Given the description of an element on the screen output the (x, y) to click on. 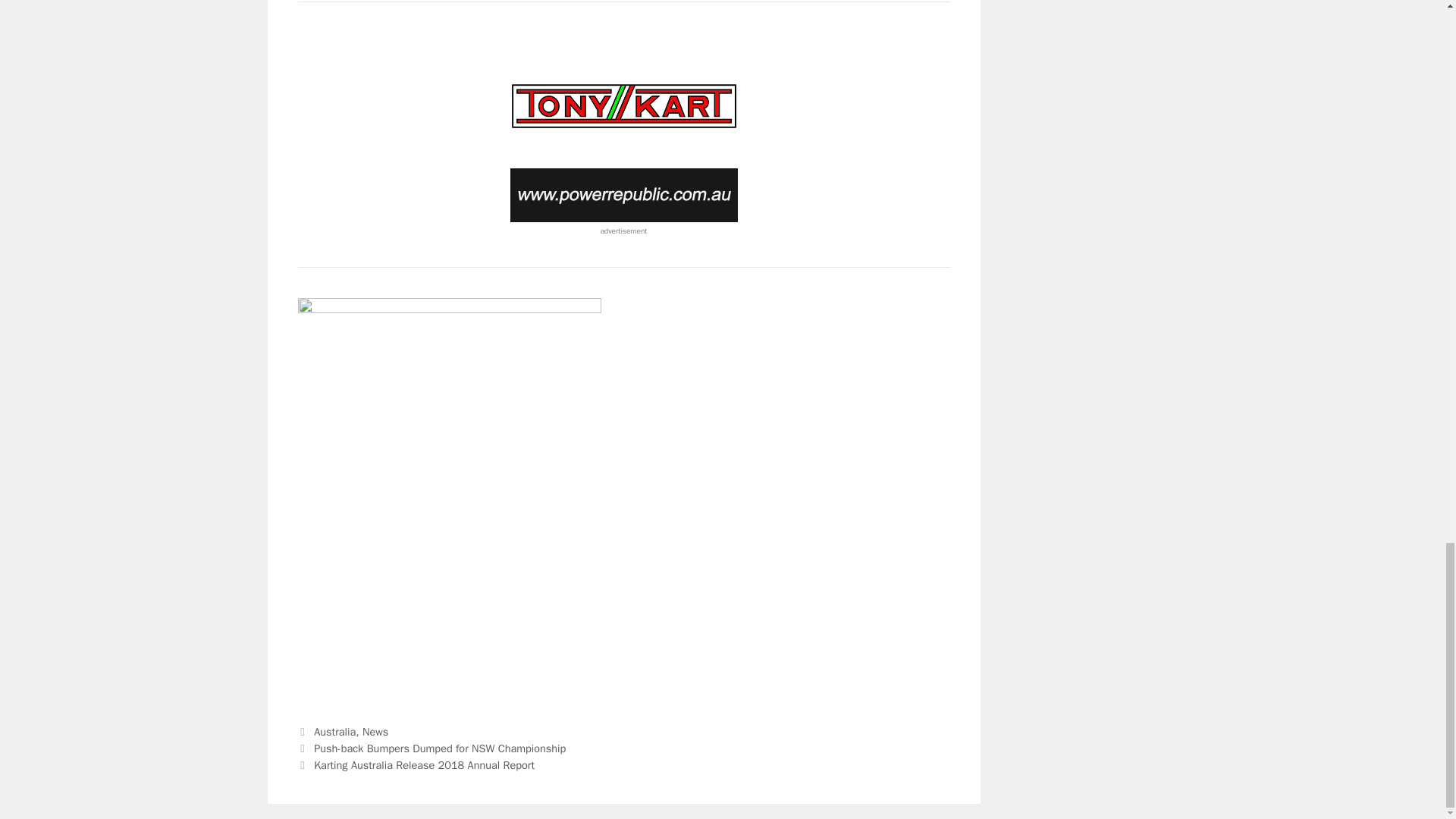
Push-back Bumpers Dumped for NSW Championship (440, 748)
Australia (334, 731)
News (375, 731)
Karting Australia Release 2018 Annual Report (424, 765)
